Given the description of an element on the screen output the (x, y) to click on. 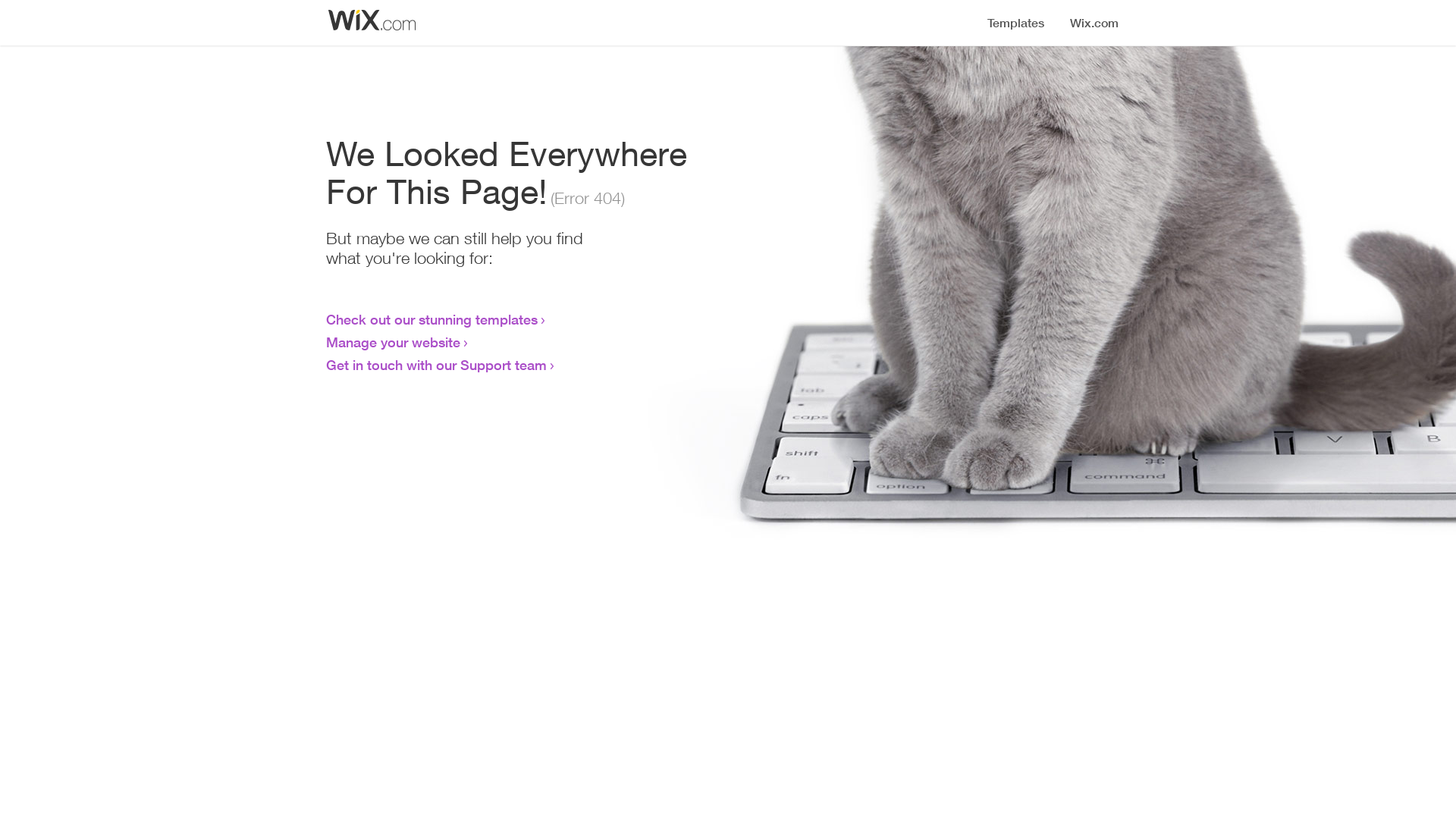
Manage your website Element type: text (393, 341)
Check out our stunning templates Element type: text (431, 318)
Get in touch with our Support team Element type: text (436, 364)
